Given the description of an element on the screen output the (x, y) to click on. 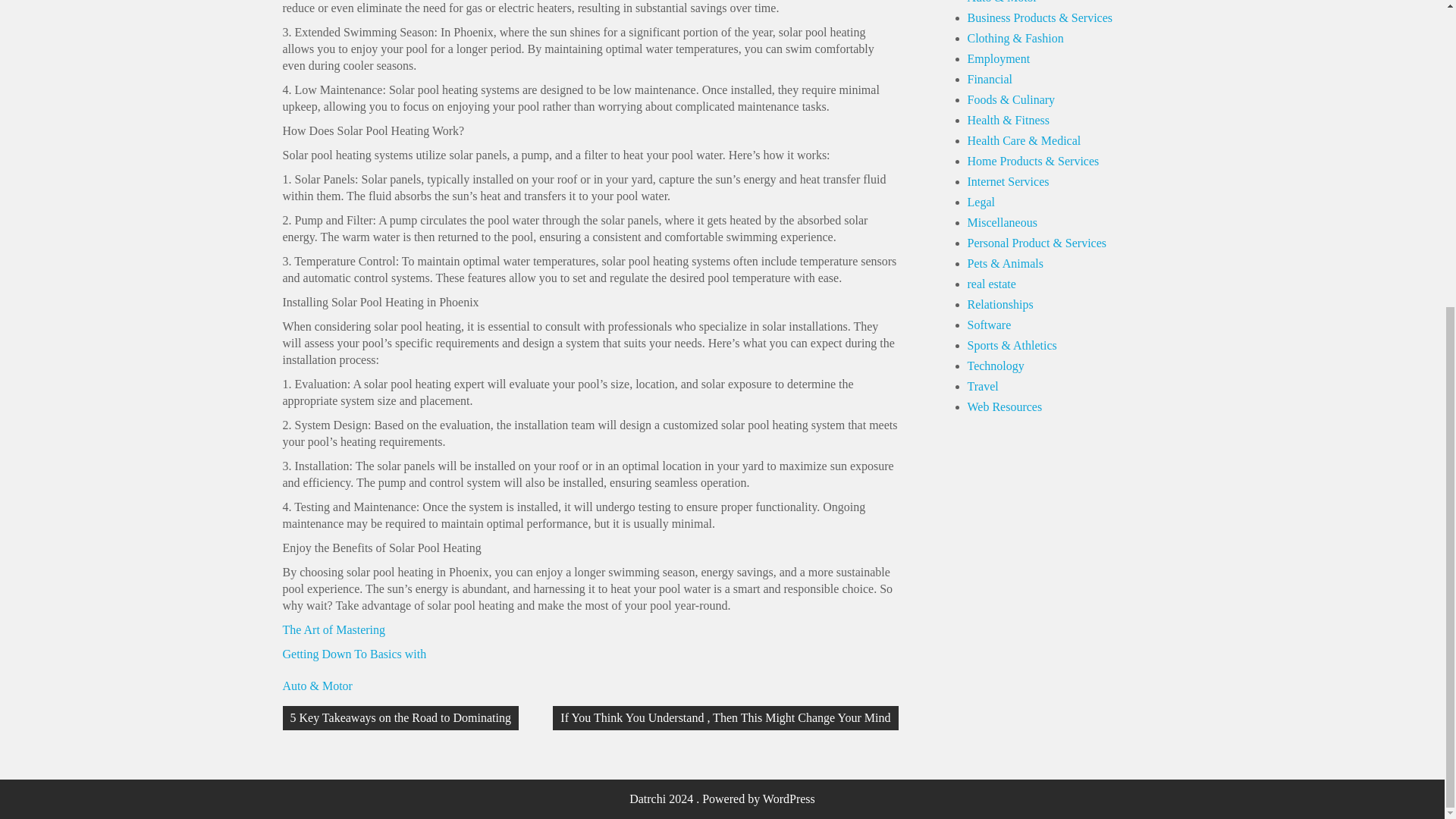
Technology (996, 365)
Web Resources (1005, 406)
Travel (983, 386)
Internet Services (1008, 181)
Financial (990, 78)
Legal (981, 201)
Miscellaneous (1002, 222)
The Art of Mastering (333, 629)
Relationships (1000, 304)
Getting Down To Basics with (354, 653)
Software (989, 324)
Employment (999, 58)
real estate (992, 283)
5 Key Takeaways on the Road to Dominating (400, 717)
